Given the description of an element on the screen output the (x, y) to click on. 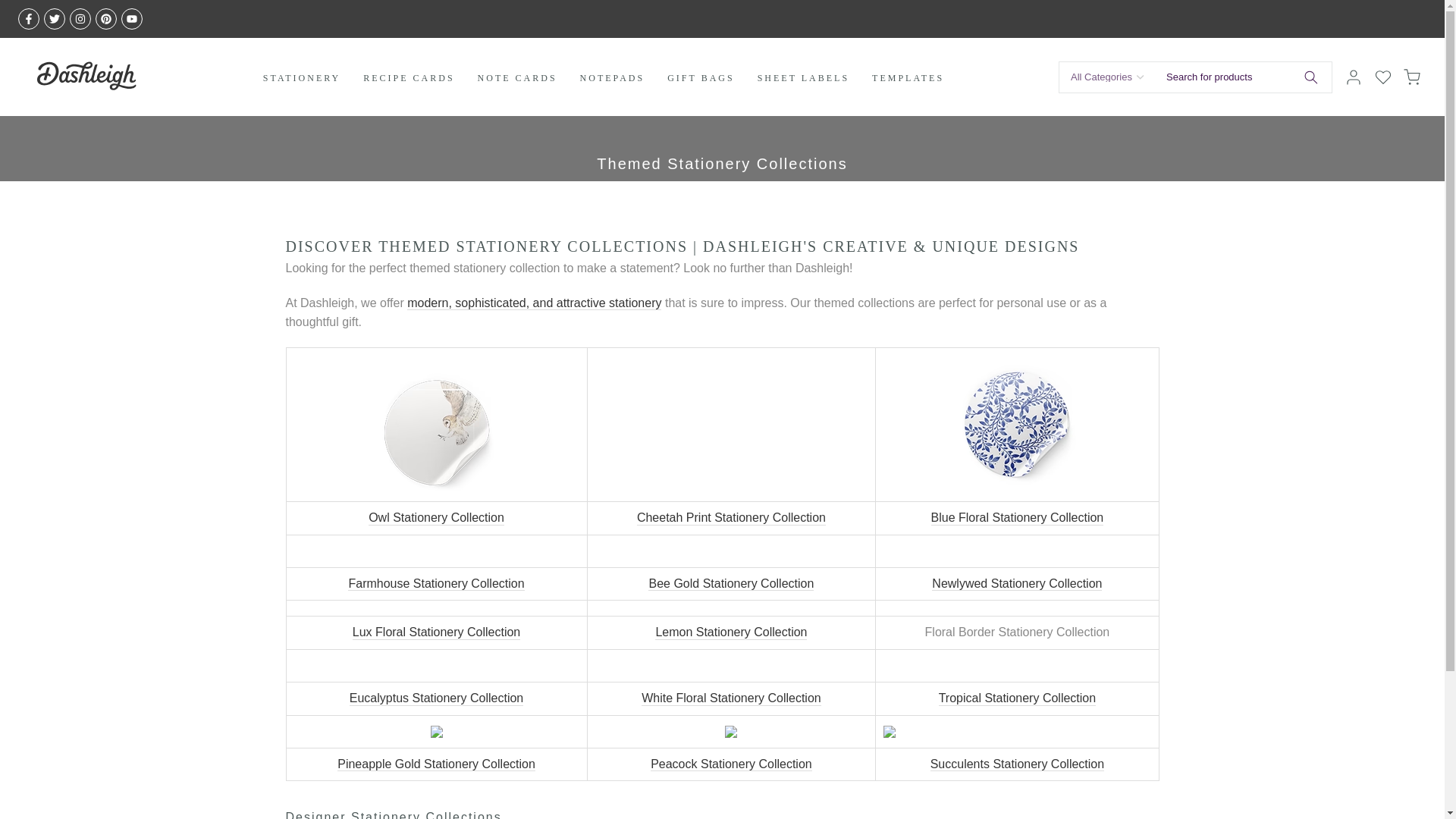
White Floral Stationery Collection (731, 698)
Follow on Instagram (79, 18)
Cheetah Print Stationery Collection (731, 518)
Farmhouse Stationery Collection (435, 584)
STATIONERY (301, 77)
TEMPLATES (907, 77)
modern, sophisticated, and attractive stationery (534, 303)
SHEET LABELS (802, 77)
Skip to content (10, 7)
Follow on YouTube (131, 18)
Bee Gold Stationery Collection (730, 584)
Blue Floral Stationery Collection (1017, 518)
Succulents Stationery Collection (1016, 764)
NOTE CARDS (517, 77)
Follow on Twitter (54, 18)
